Given the description of an element on the screen output the (x, y) to click on. 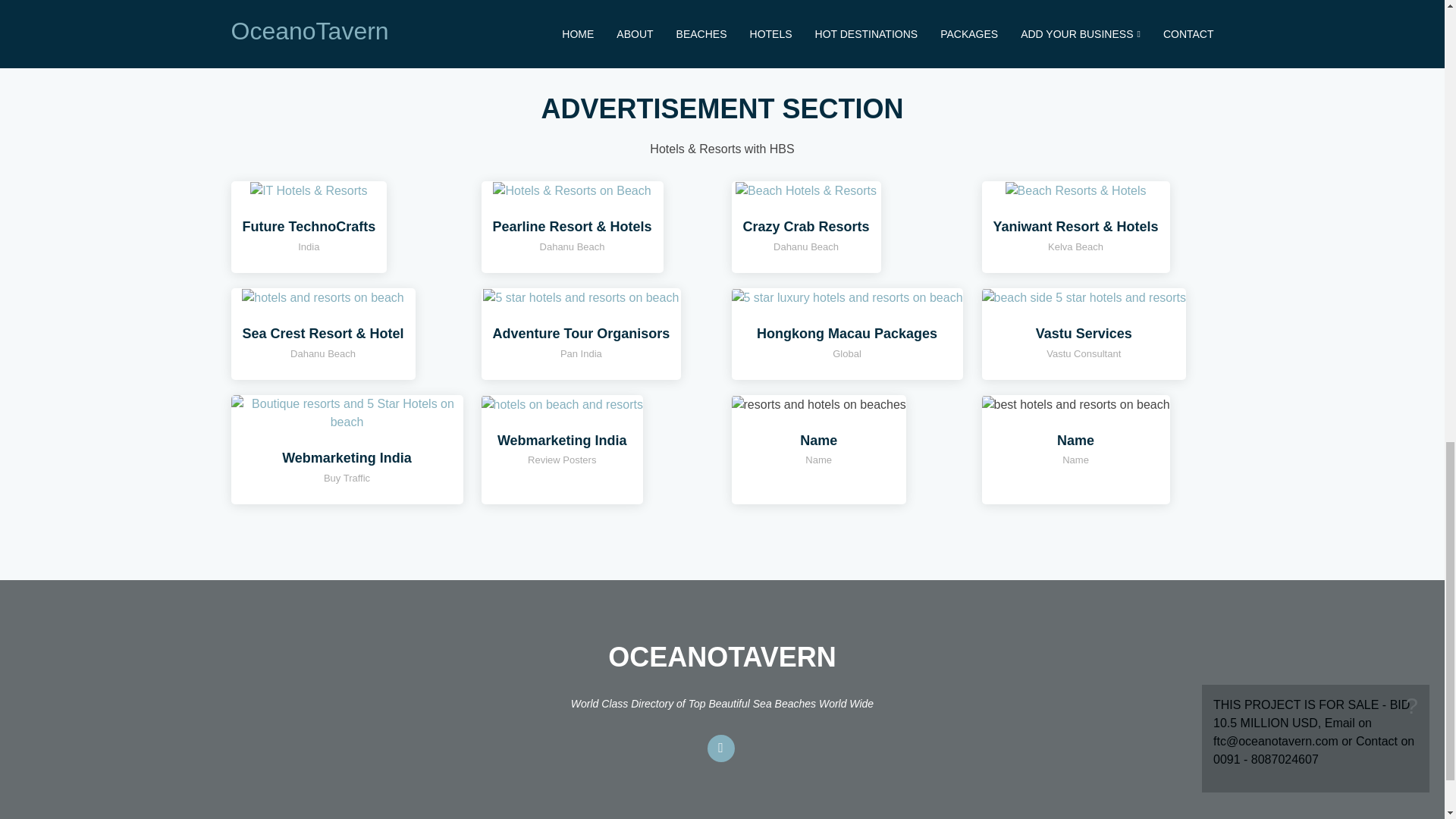
hotels and Resorts (308, 189)
hotels and Resorts (346, 411)
hotels and Resorts (580, 296)
hotels and Resorts (322, 296)
hotels and Resorts (805, 189)
hotels and Resorts (846, 296)
hotels and Resorts (571, 189)
hotels and Resorts (1083, 296)
hotels and Resorts (561, 403)
hotels and Resorts (1076, 189)
